Given the description of an element on the screen output the (x, y) to click on. 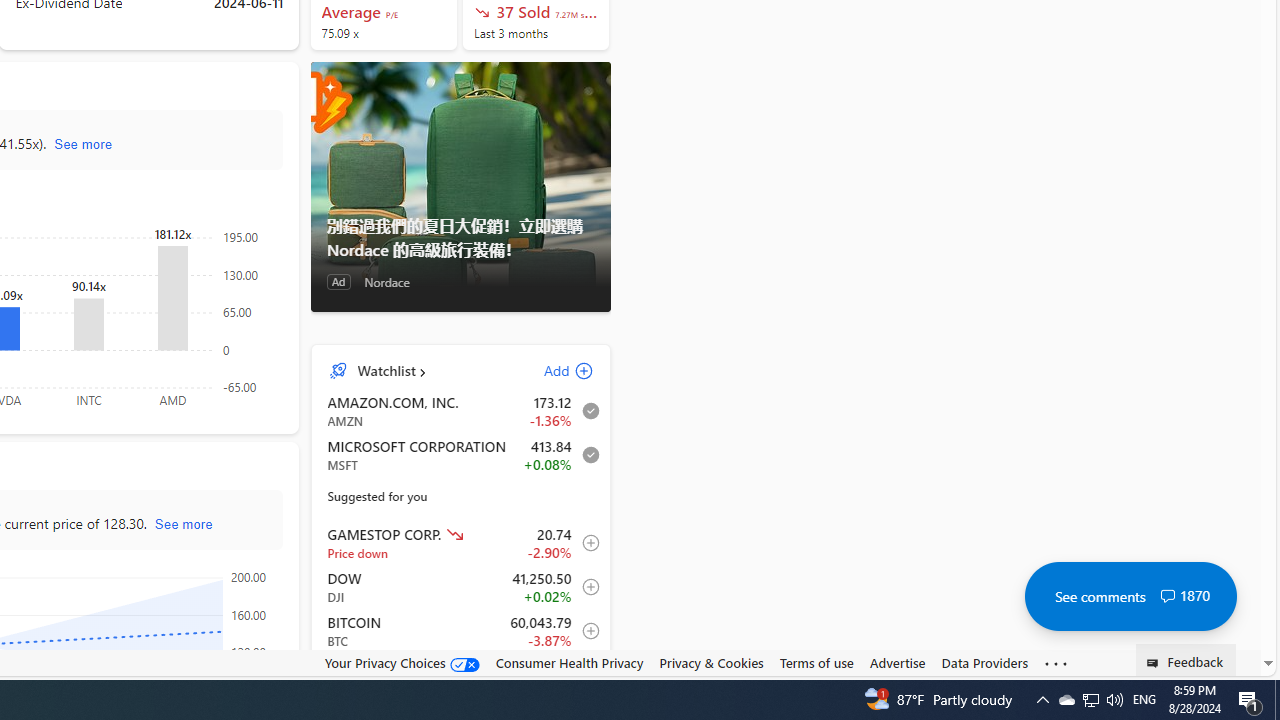
Remove from watchlist (585, 454)
Privacy & Cookies (711, 662)
Advertise (897, 663)
Data Providers (983, 662)
GME GAMESTOP CORP. decrease 20.74 -0.62 -2.90% item0 (461, 543)
Watchlist (386, 370)
Data Providers (983, 663)
Your Privacy Choices (401, 662)
Class: oneFooter_seeMore-DS-EntryPoint1-1 (1055, 663)
Add to Watchlist (585, 674)
Privacy & Cookies (711, 663)
Your Privacy Choices (401, 663)
BTC Bitcoin decrease 60,043.79 -2,323.69 -3.87% item2 (461, 631)
